Given the description of an element on the screen output the (x, y) to click on. 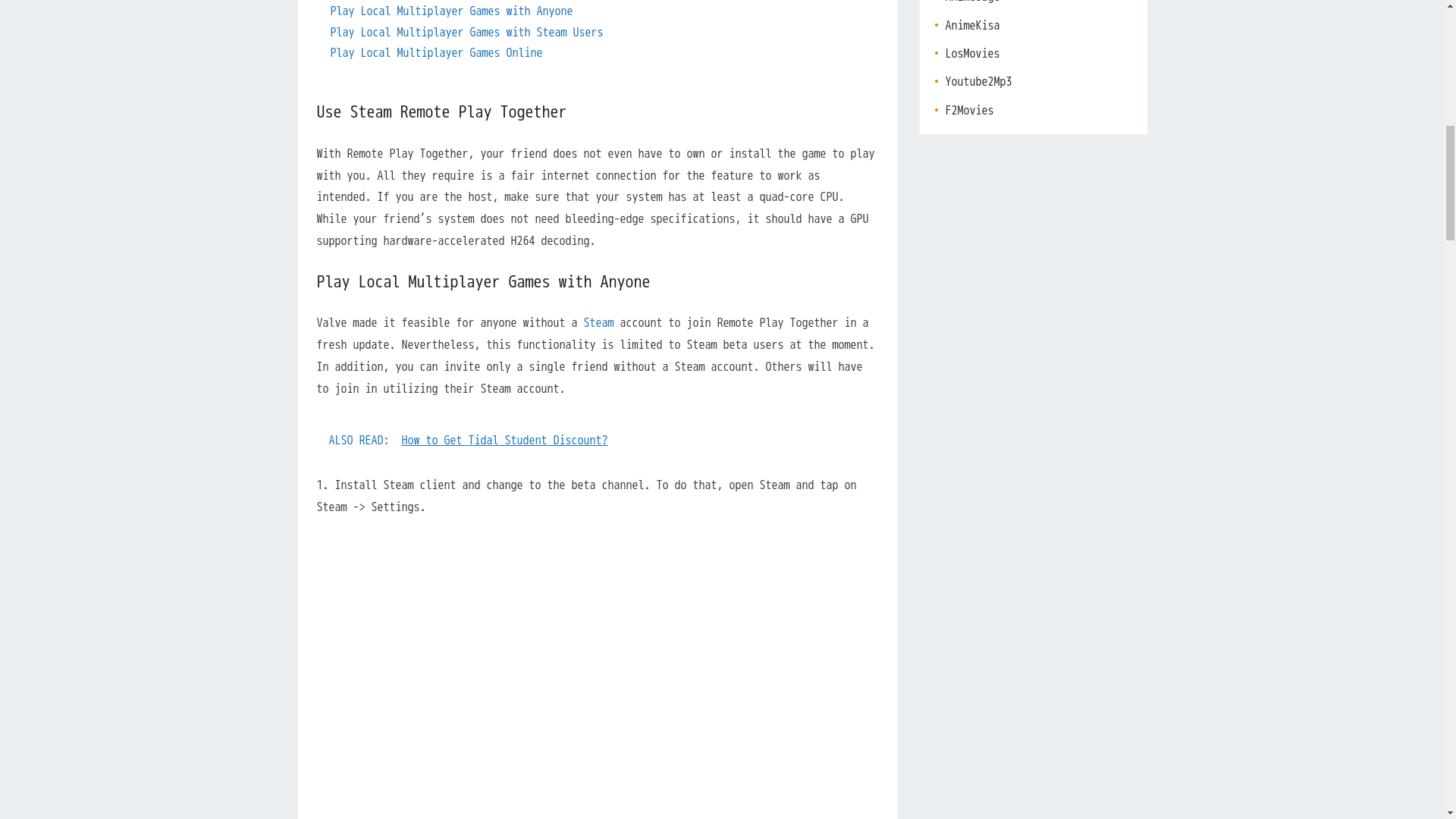
ALSO READ:  How to Get Tidal Student Discount? (597, 441)
Play Local Multiplayer Games with Anyone (451, 11)
Play Local Multiplayer Games with Steam Users (467, 32)
Steam (598, 322)
Play Local Multiplayer Games Online (436, 52)
